Given the description of an element on the screen output the (x, y) to click on. 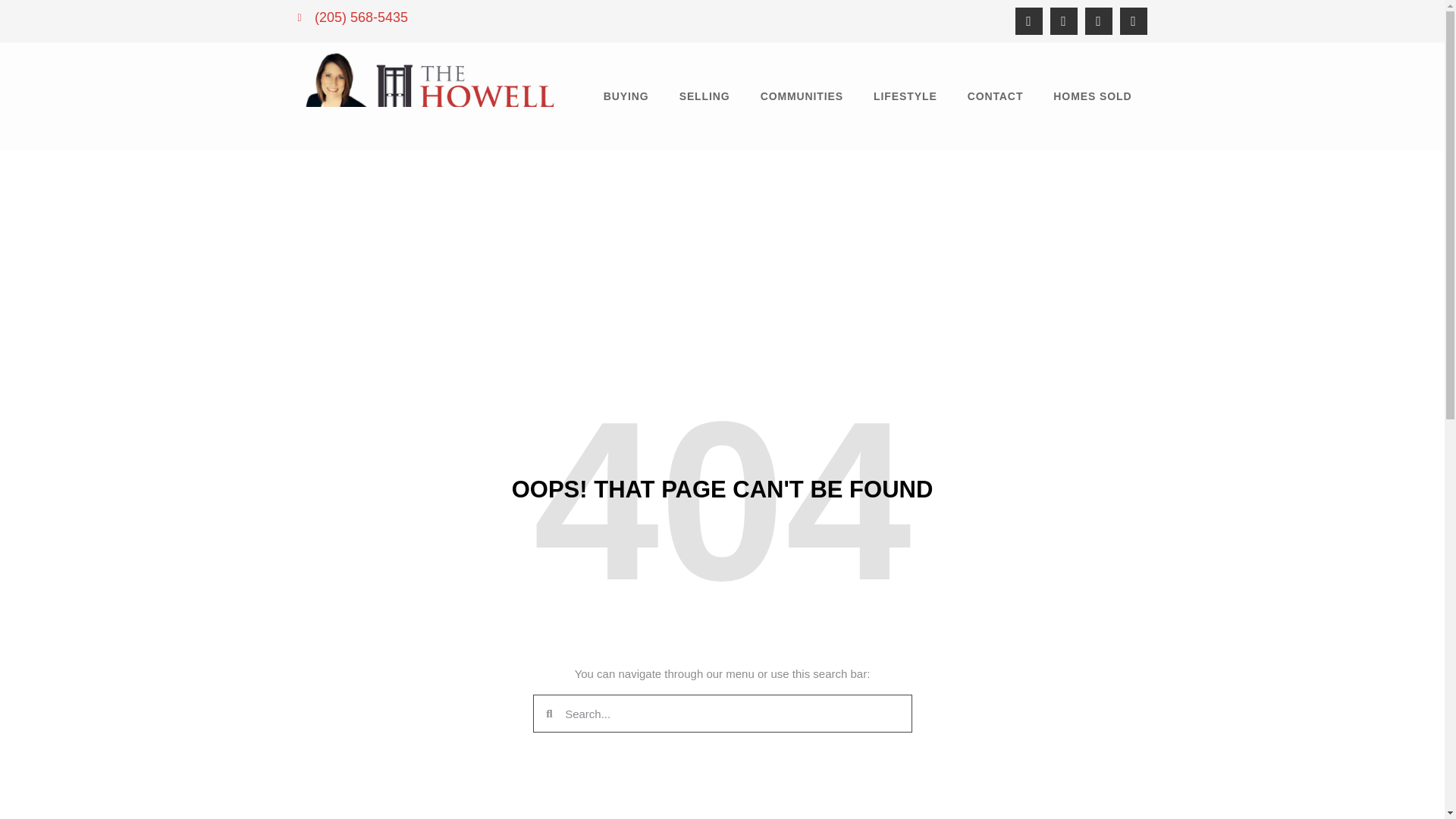
HOMES SOLD (1092, 95)
COMMUNITIES (802, 95)
SELLING (704, 95)
BUYING (625, 95)
CONTACT (995, 95)
LIFESTYLE (905, 95)
